Given the description of an element on the screen output the (x, y) to click on. 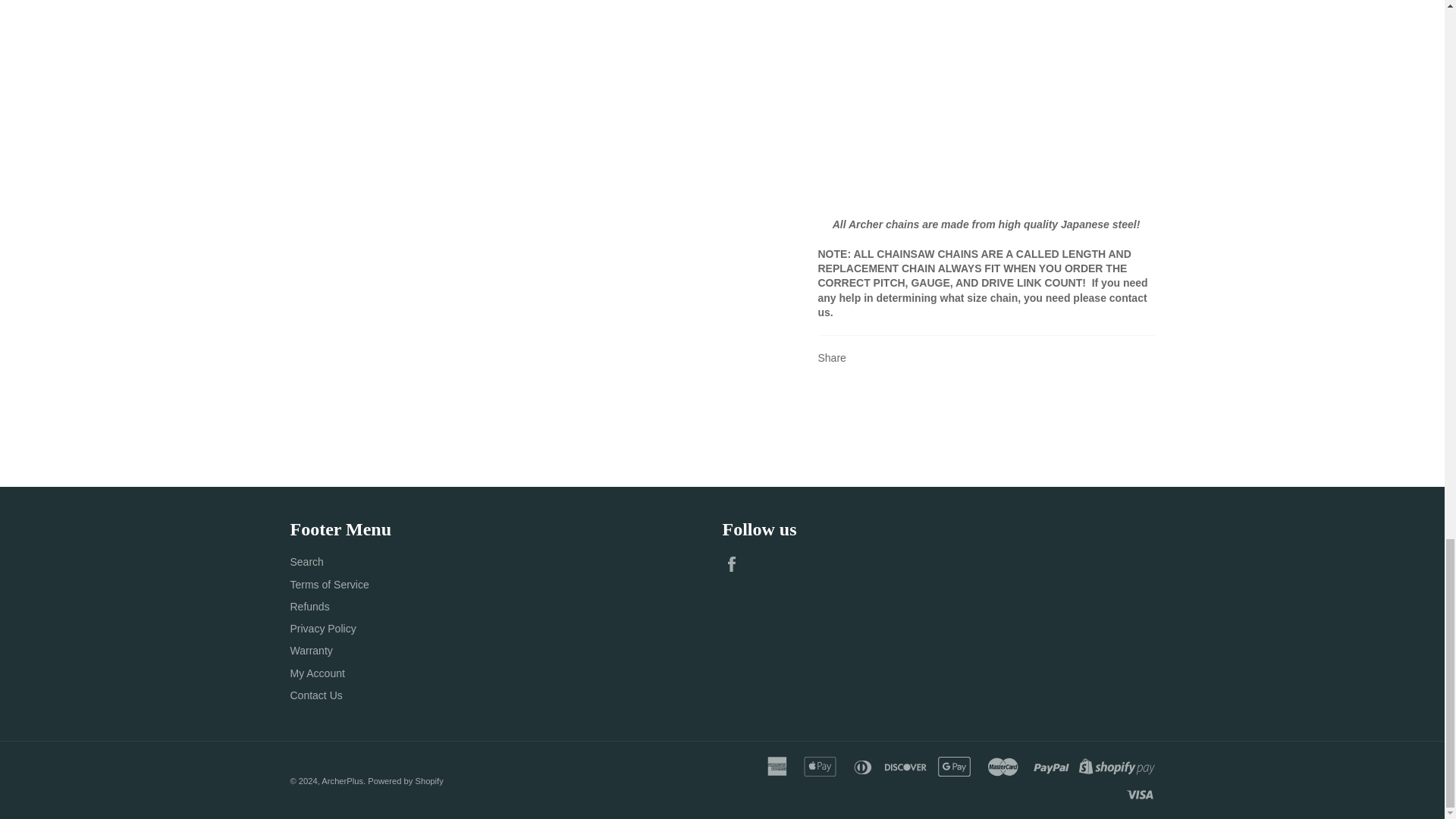
Warranty (310, 650)
ArcherPlus (341, 780)
Powered by Shopify (406, 780)
Refunds (309, 606)
Terms of Service (328, 584)
Privacy Policy (322, 628)
ArcherPlus on Facebook (735, 564)
Facebook (735, 564)
My Account (316, 673)
Contact Us (315, 695)
